Given the description of an element on the screen output the (x, y) to click on. 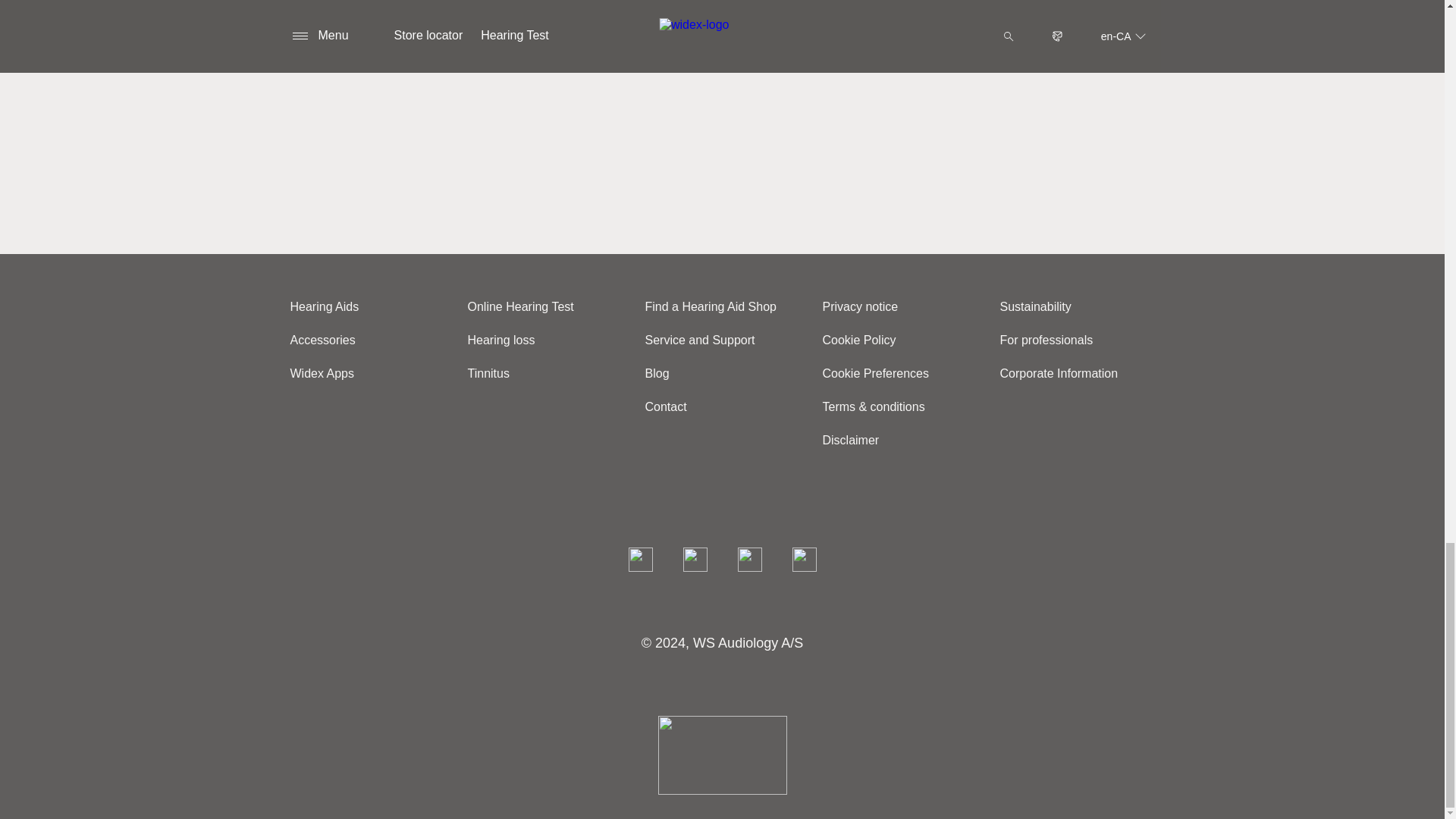
Online Hearing Test (526, 306)
Corporate Information (1063, 373)
Blog (662, 373)
Disclaimer (855, 440)
Privacy notice (865, 306)
Widex Apps (327, 373)
Hearing loss (506, 339)
Service and Support (705, 339)
Hearing Aids (329, 306)
Find a Hearing Aid Shop (716, 306)
Cookie Preferences (881, 373)
Cookie Policy (864, 339)
For professionals (1050, 339)
Sustainability (1039, 306)
Accessories (327, 339)
